Given the description of an element on the screen output the (x, y) to click on. 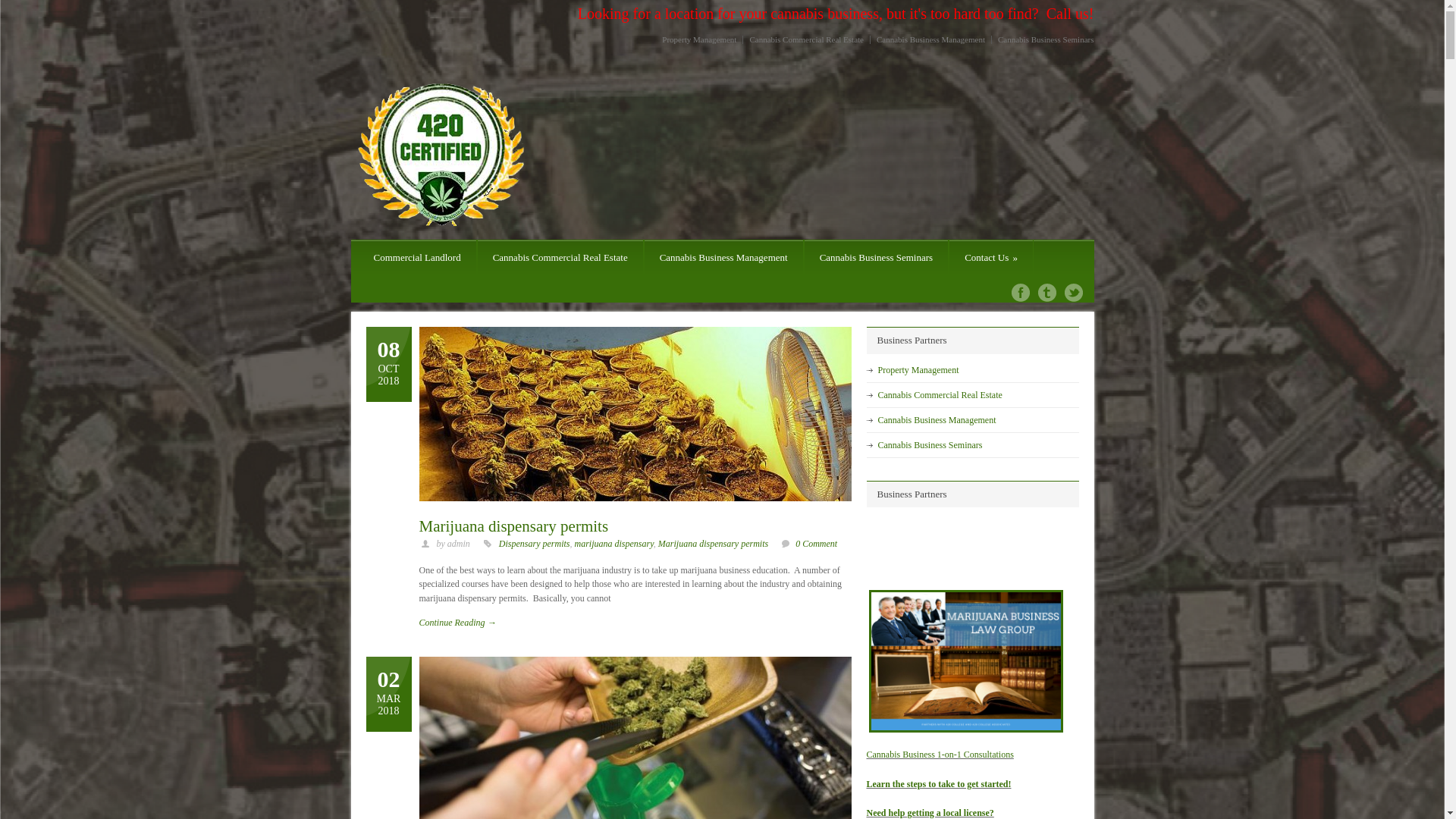
Property Management Element type: text (702, 39)
Cannabis Business Seminars Element type: text (1042, 39)
Cannabis Business Management Element type: text (937, 419)
marijuana dispensary Element type: text (613, 543)
Cannabis Business Seminars Element type: text (876, 257)
Need help getting a local license? Element type: text (929, 812)
Cannabis Business Management Element type: text (723, 257)
Cannabis Business Management Element type: text (930, 39)
Cannabis Commercial Real Estate Element type: text (940, 394)
Learn the steps to take to get started! Element type: text (938, 783)
Cannabis Business Seminars Element type: text (930, 444)
Property Management Element type: text (918, 369)
Cannabis Commercial Real Estate Element type: text (806, 39)
Cannabis Business 1-on-1 Consultations Element type: text (939, 754)
Cannabis Commercial Real Estate Element type: text (559, 257)
Marijuana dispensary permits Element type: text (713, 543)
Commercial Landlord Element type: text (416, 257)
Dispensary permits Element type: text (534, 543)
0 Comment Element type: text (816, 543)
Marijuana dispensary permits Element type: text (513, 526)
